Given the description of an element on the screen output the (x, y) to click on. 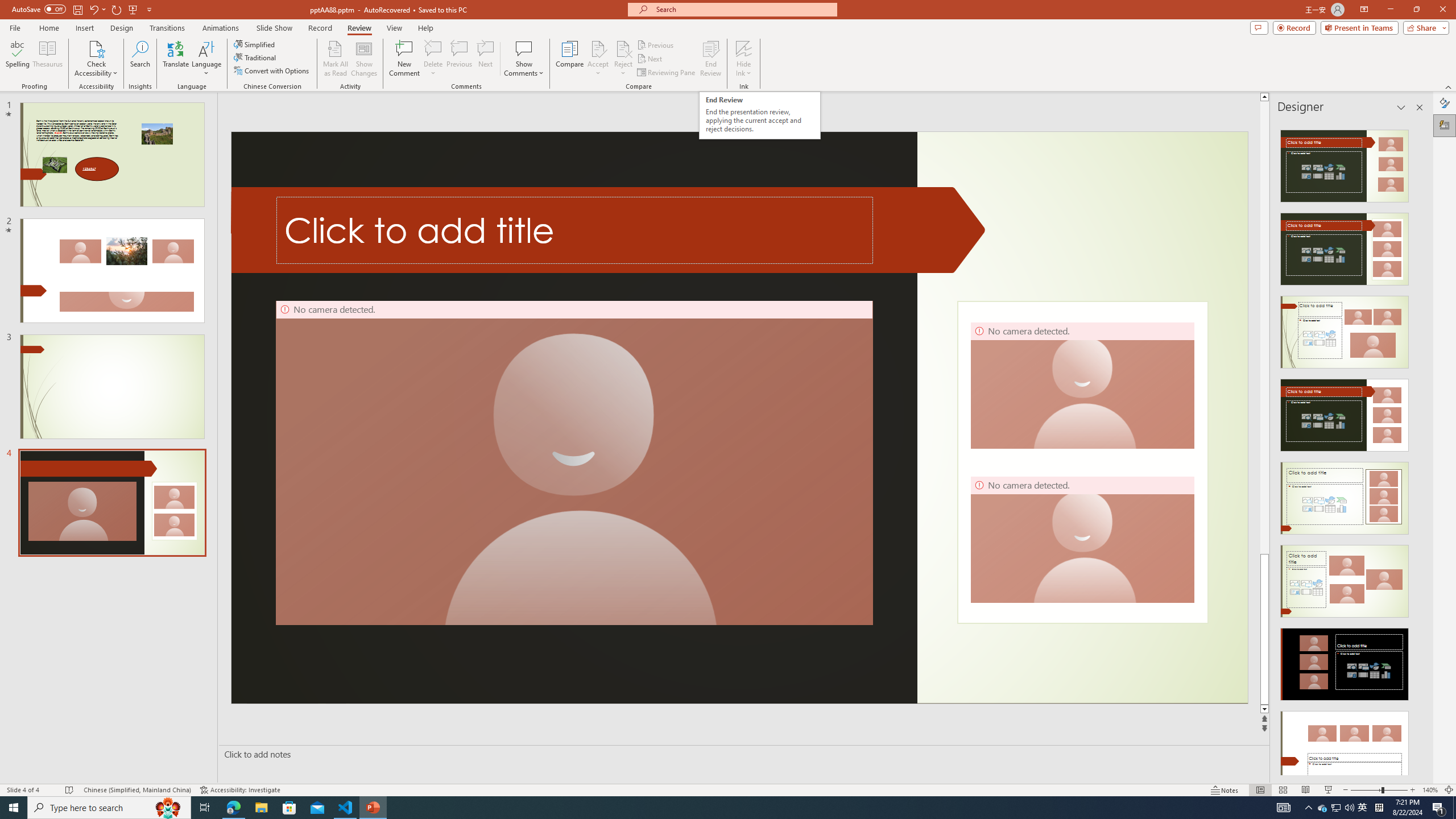
End Review (710, 58)
Camera 5, No camera detected. (574, 462)
Reject Change (622, 48)
